Given the description of an element on the screen output the (x, y) to click on. 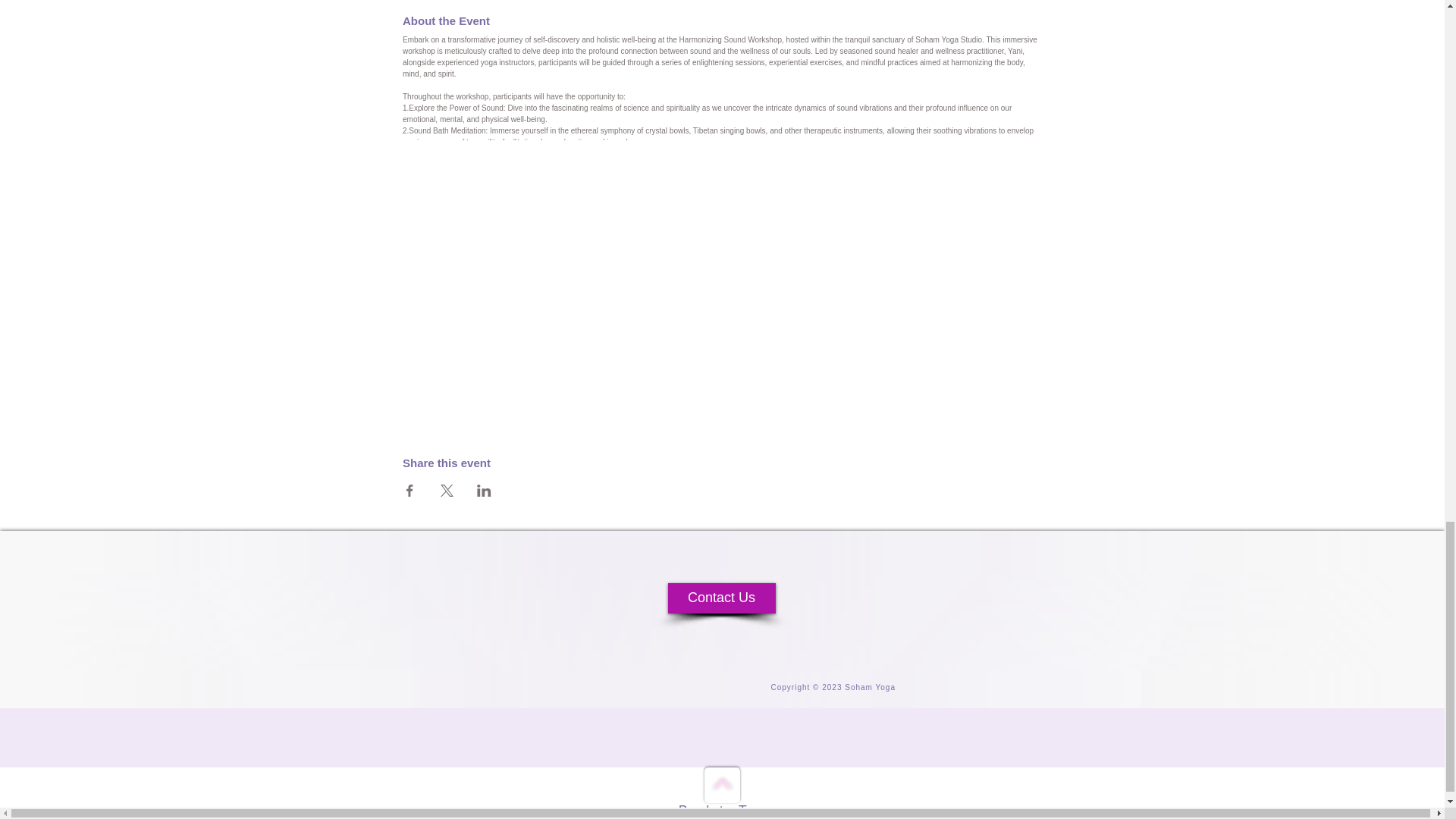
Contact Us (720, 598)
